Given the description of an element on the screen output the (x, y) to click on. 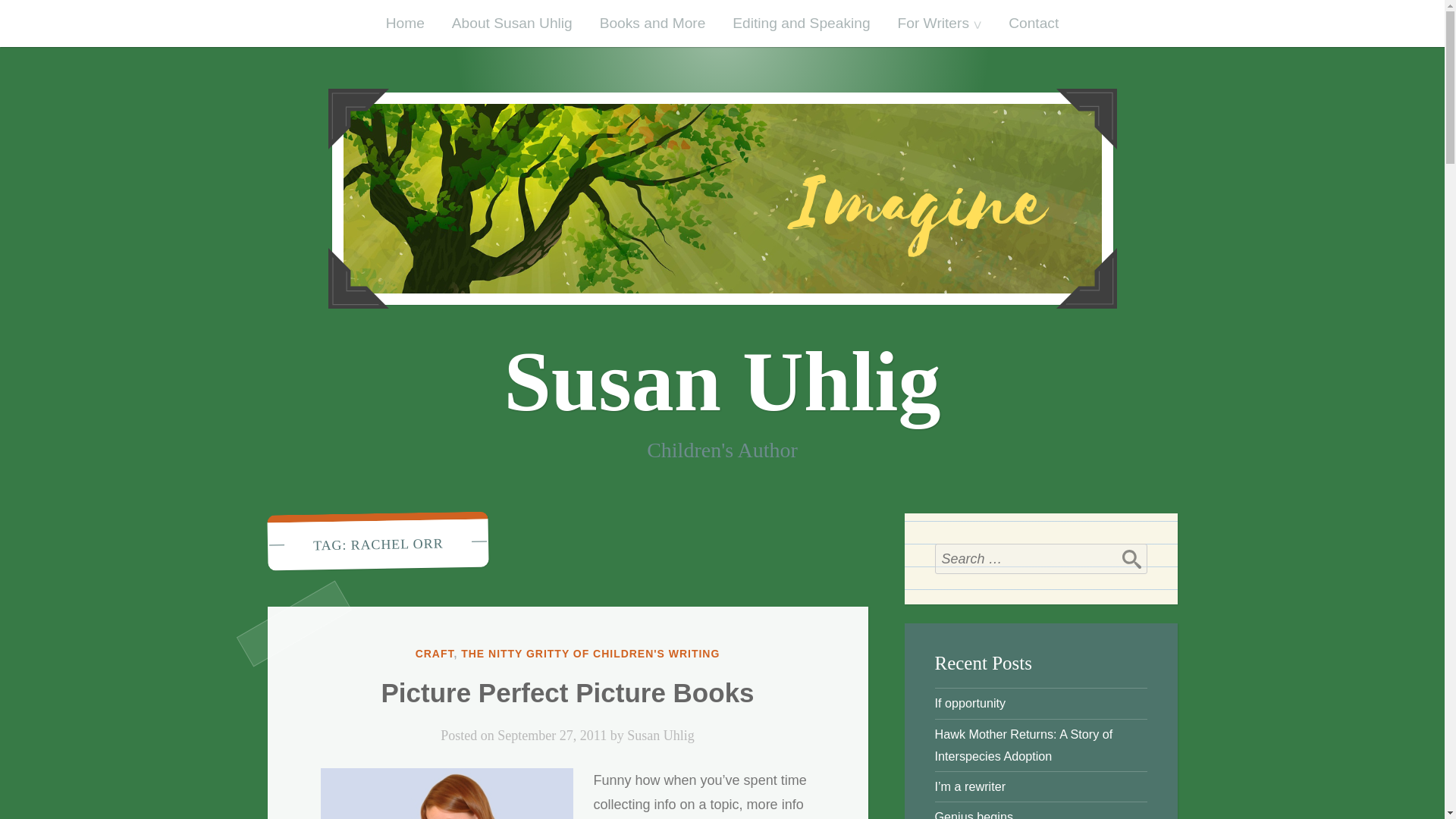
THE NITTY GRITTY OF CHILDREN'S WRITING (590, 653)
Susan Uhlig (660, 735)
Search (1131, 558)
Books and More (652, 23)
For Writers (939, 23)
Contact (1032, 23)
September 27, 2011 (552, 735)
CRAFT (434, 653)
Susan Uhlig (721, 381)
About Susan Uhlig (512, 23)
Home (405, 23)
Search (1131, 558)
Picture Perfect Picture Books (567, 692)
Editing and Speaking (801, 23)
